Given the description of an element on the screen output the (x, y) to click on. 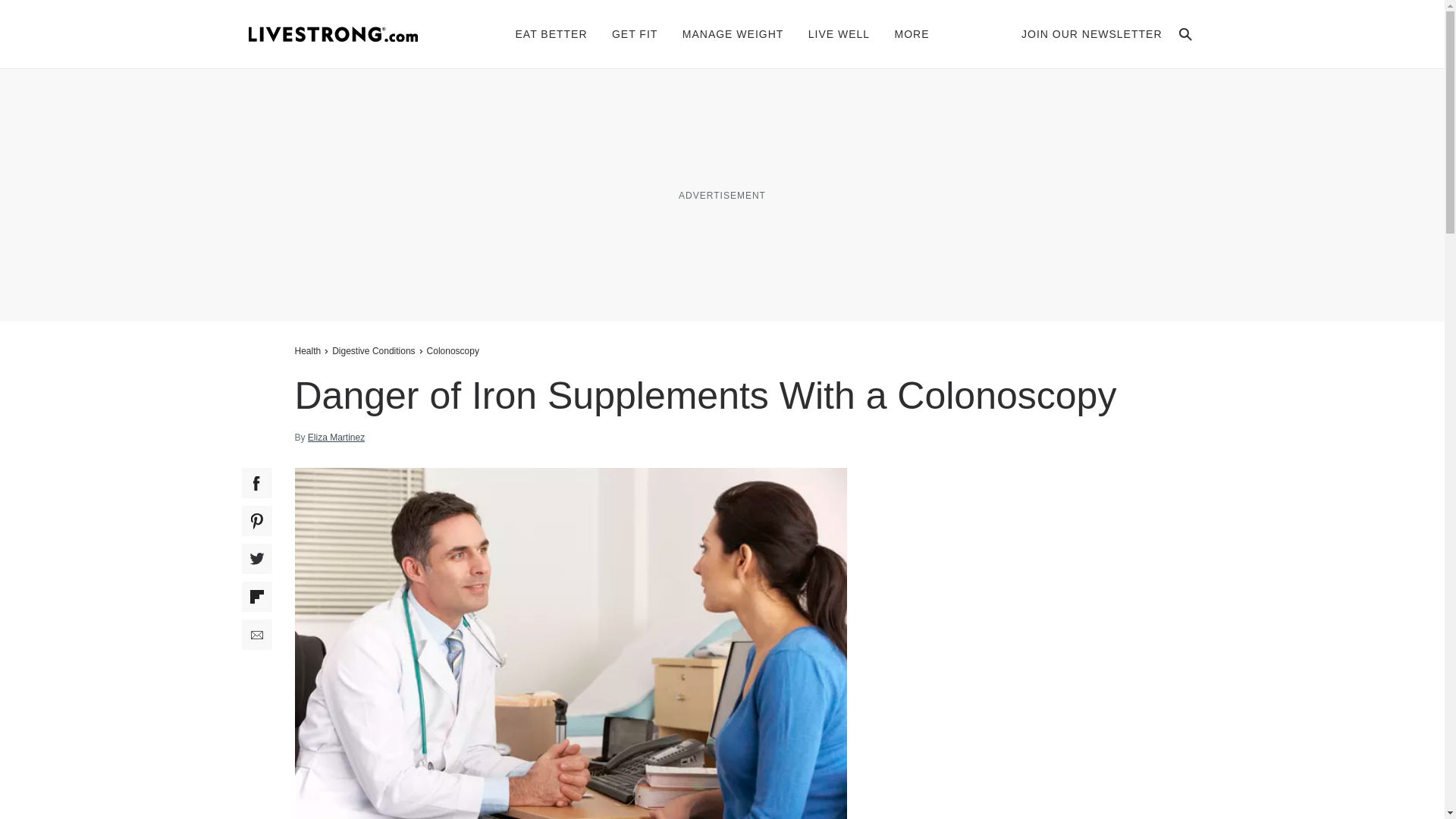
GET FIT (634, 33)
MANAGE WEIGHT (733, 33)
Colonoscopy (453, 350)
Health (309, 350)
LIVE WELL (838, 33)
EAT BETTER (551, 33)
JOIN OUR NEWSLETTER (1091, 33)
Digestive Conditions (374, 350)
Eliza Martinez (336, 437)
